Given the description of an element on the screen output the (x, y) to click on. 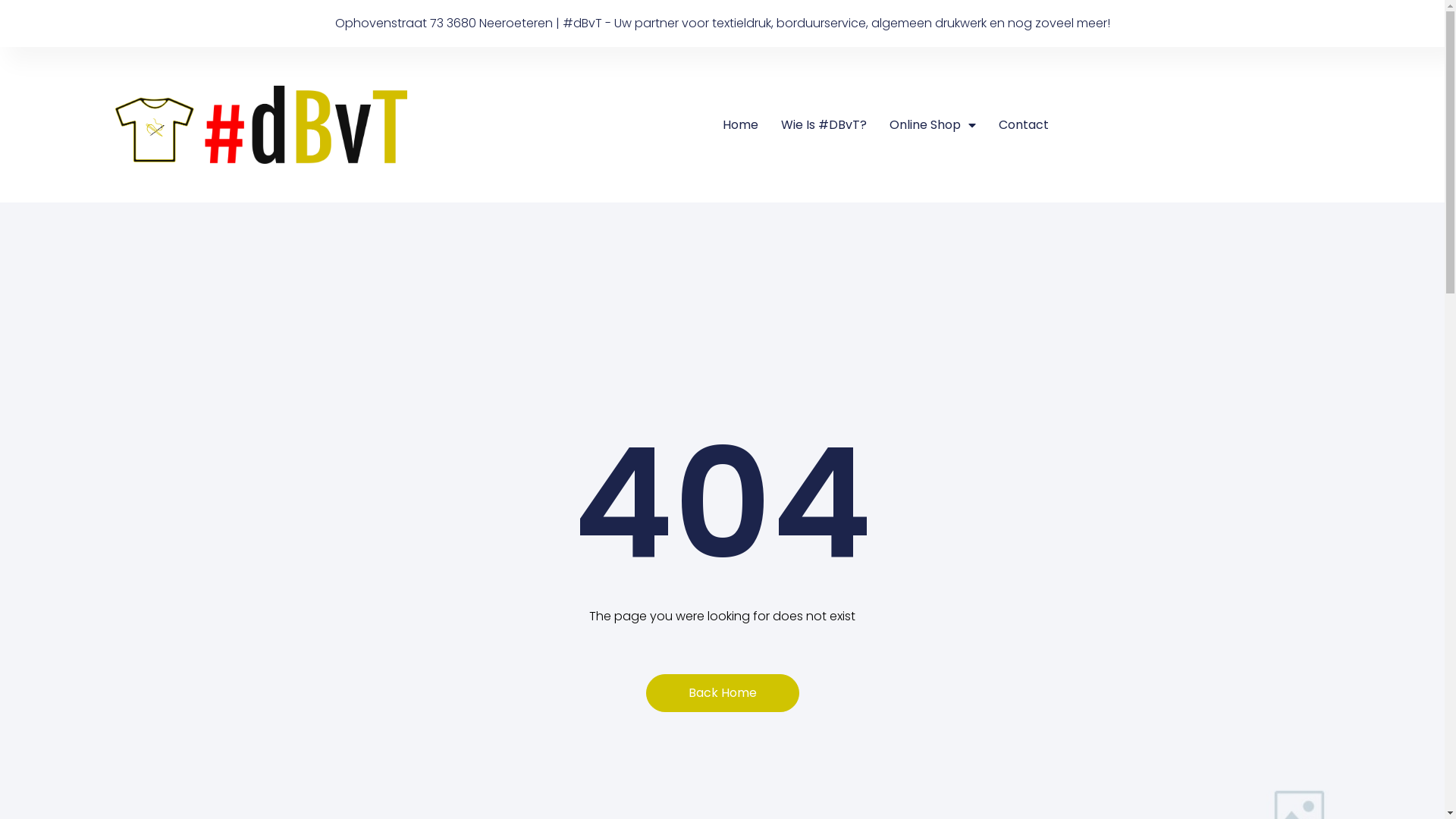
Contact Element type: text (1022, 124)
Home Element type: text (739, 124)
Online Shop Element type: text (931, 124)
Back Home Element type: text (722, 693)
Wie Is #DBvT? Element type: text (823, 124)
